Given the description of an element on the screen output the (x, y) to click on. 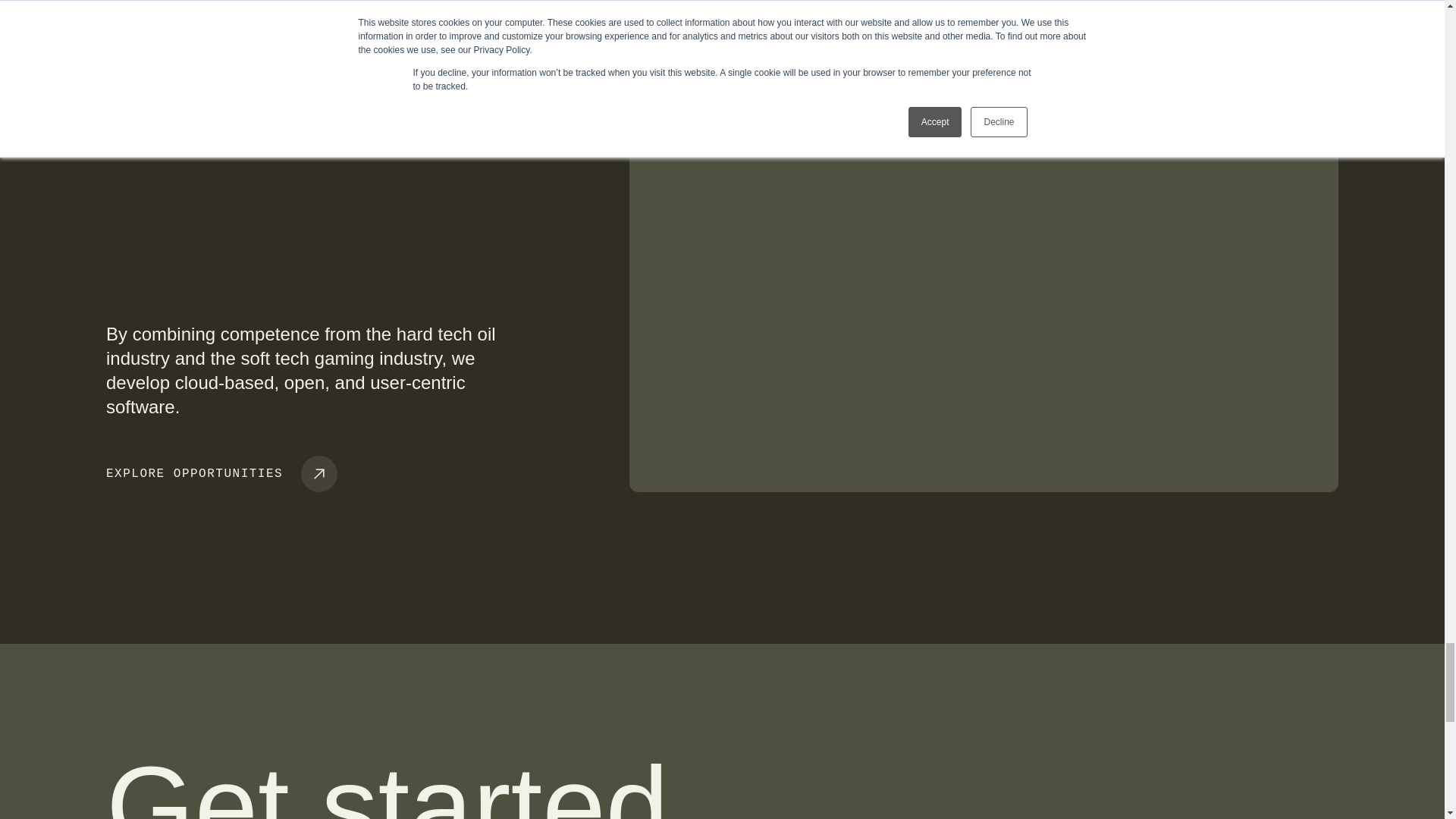
EXPLORE OPPORTUNITIES (221, 473)
